Given the description of an element on the screen output the (x, y) to click on. 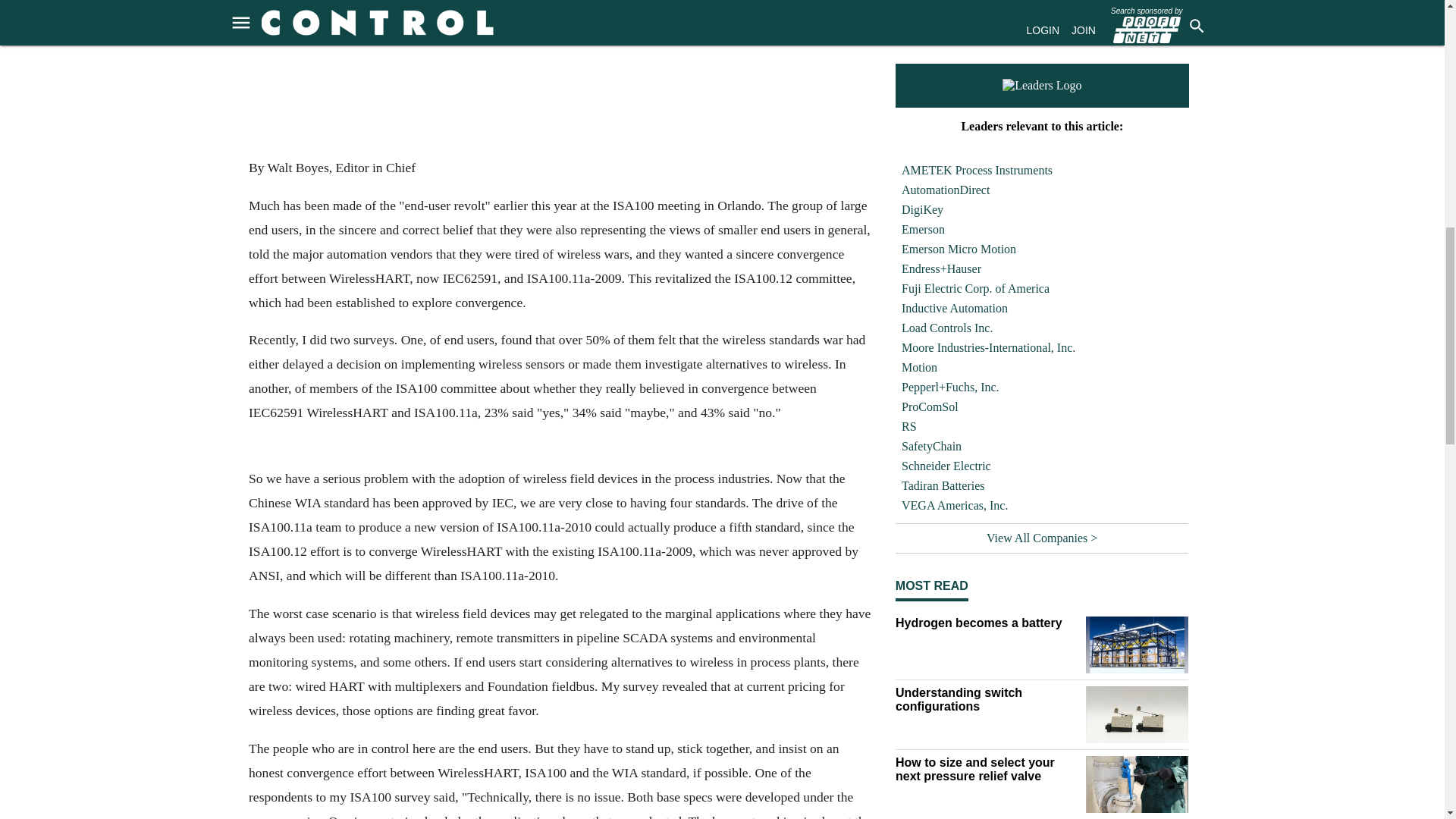
boyes (560, 77)
